Given the description of an element on the screen output the (x, y) to click on. 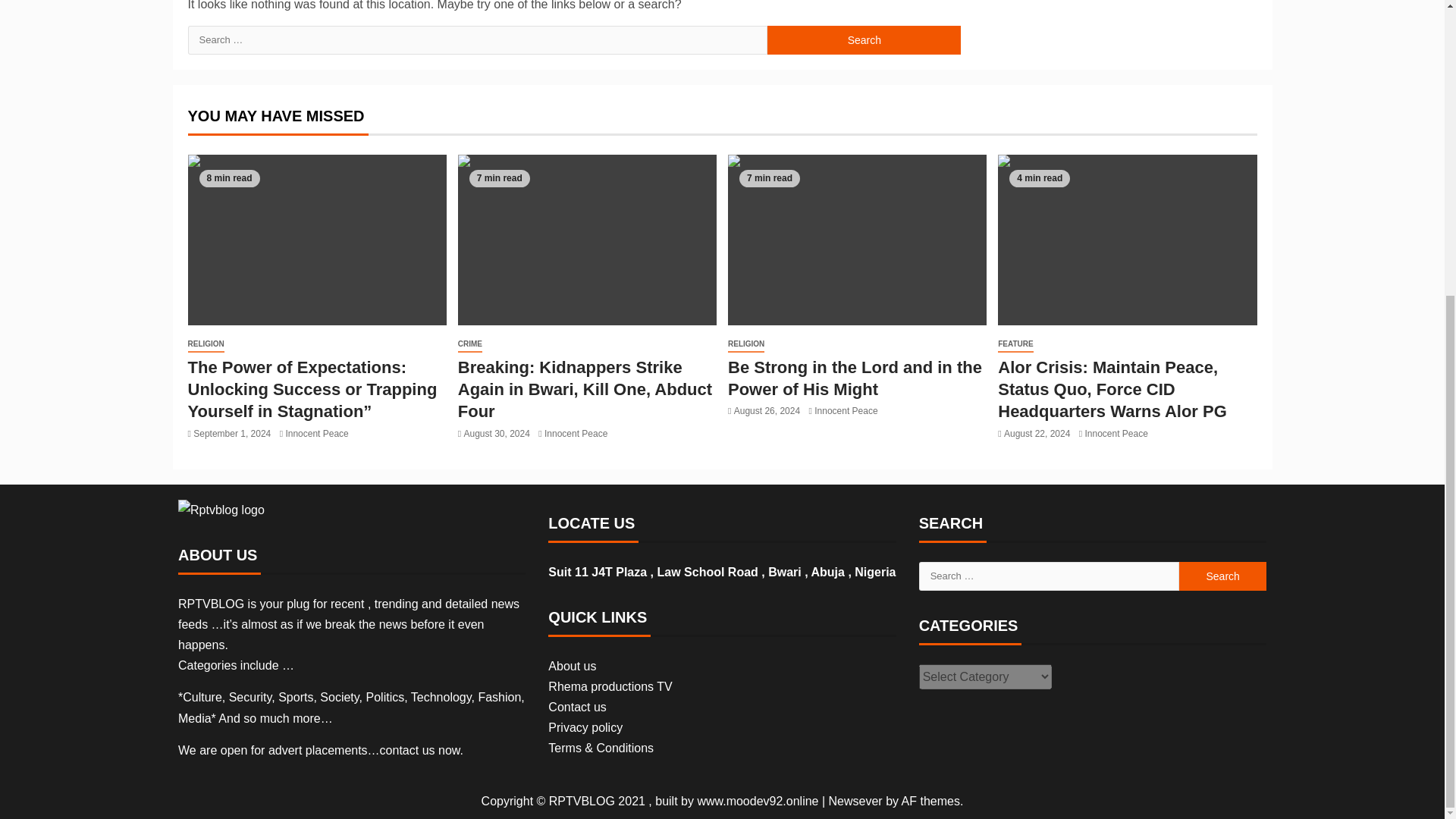
Search (863, 39)
Innocent Peace (575, 433)
FEATURE (1014, 344)
Innocent Peace (845, 410)
Be Strong in the Lord and in the Power of His Might (854, 377)
RELIGION (205, 344)
Search (1222, 575)
Search (863, 39)
Search (863, 39)
